Given the description of an element on the screen output the (x, y) to click on. 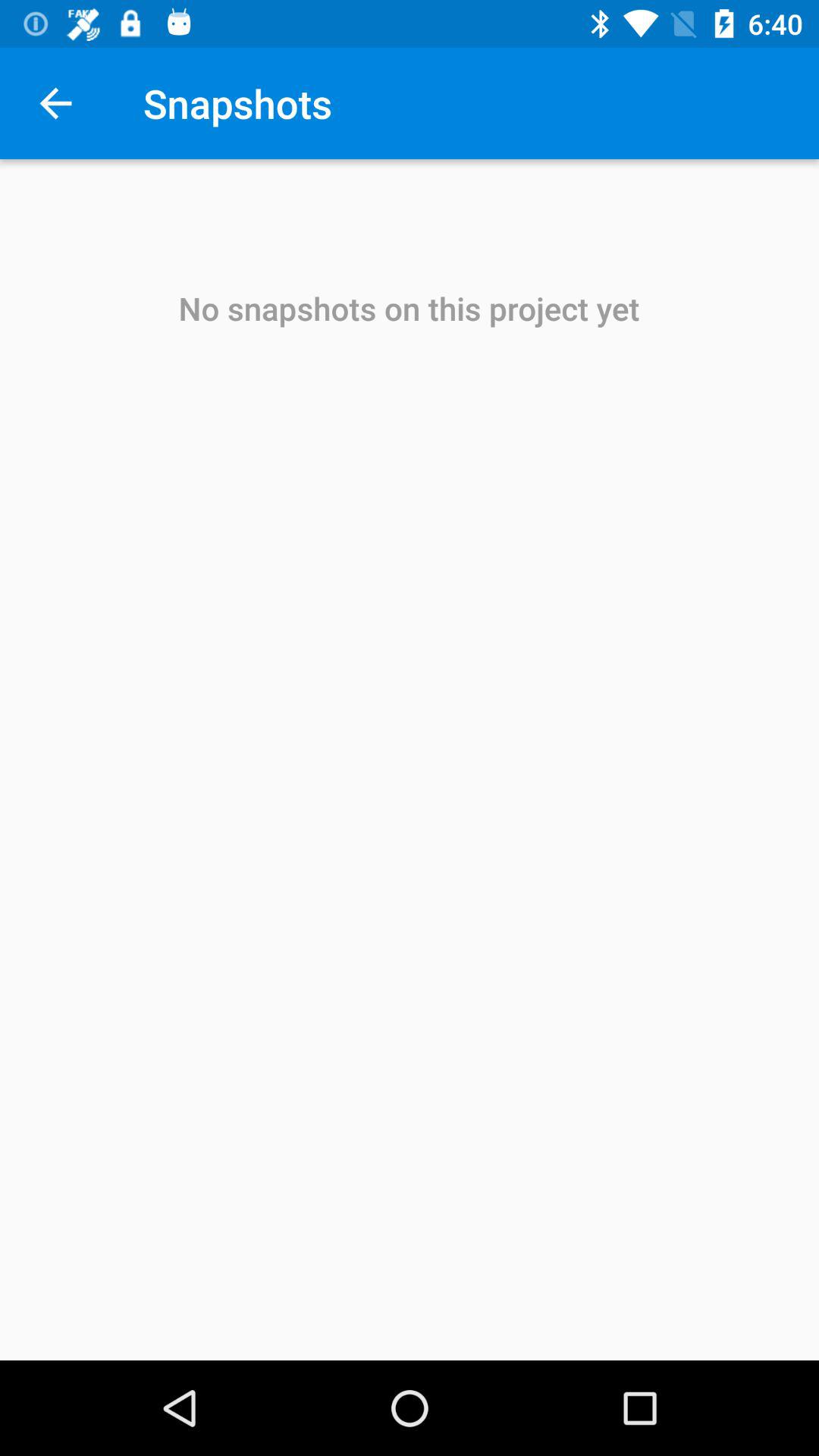
tap icon next to snapshots item (55, 103)
